Given the description of an element on the screen output the (x, y) to click on. 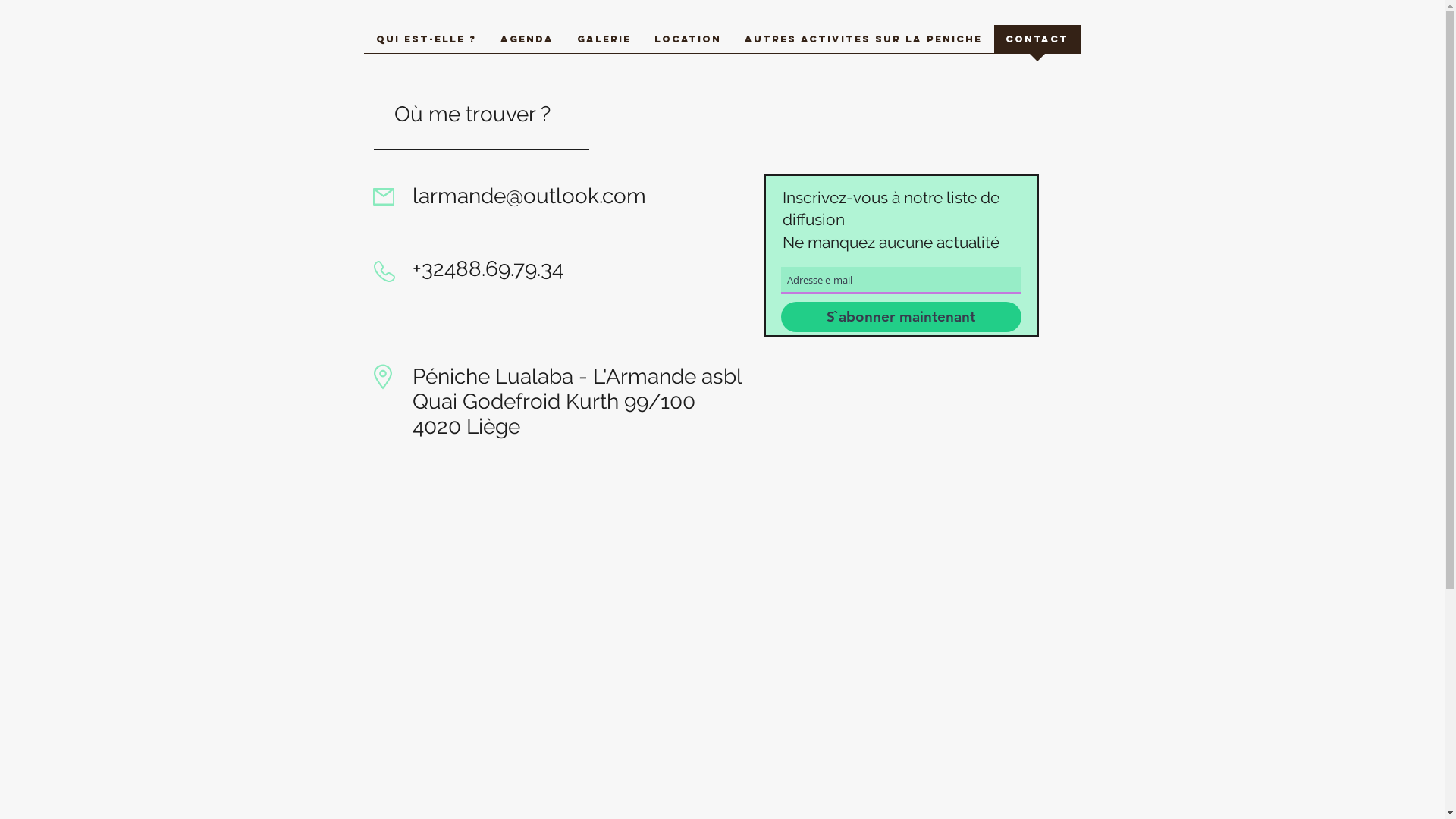
GALERIE Element type: text (604, 43)
CONTACT Element type: text (1036, 43)
AGENDA Element type: text (526, 43)
QUI EST-ELLE ? Element type: text (426, 43)
LOCATION Element type: text (688, 43)
AUTRES ACTIVITES SUR LA PENICHE Element type: text (862, 43)
S`abonner maintenant Element type: text (901, 316)
Google Maps Element type: hover (722, 622)
larmande@outlook.com Element type: text (529, 195)
